Given the description of an element on the screen output the (x, y) to click on. 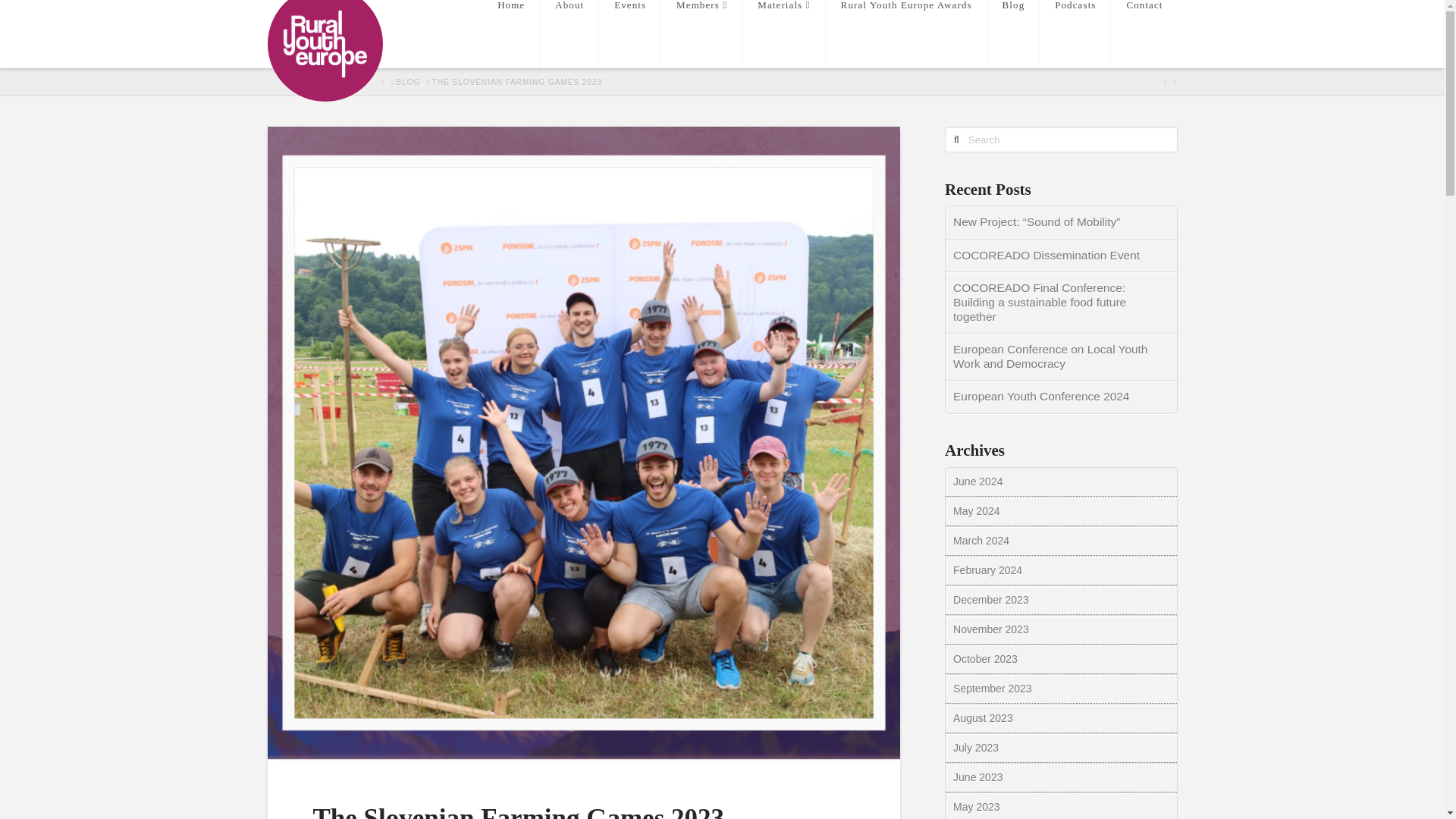
Contact (1143, 33)
Blog (1014, 33)
Rural Youth Europe Awards (906, 33)
About (569, 33)
Members (701, 33)
Materials (783, 33)
You Are Here (517, 81)
Home (510, 33)
Events (629, 33)
Podcasts (1074, 33)
